Given the description of an element on the screen output the (x, y) to click on. 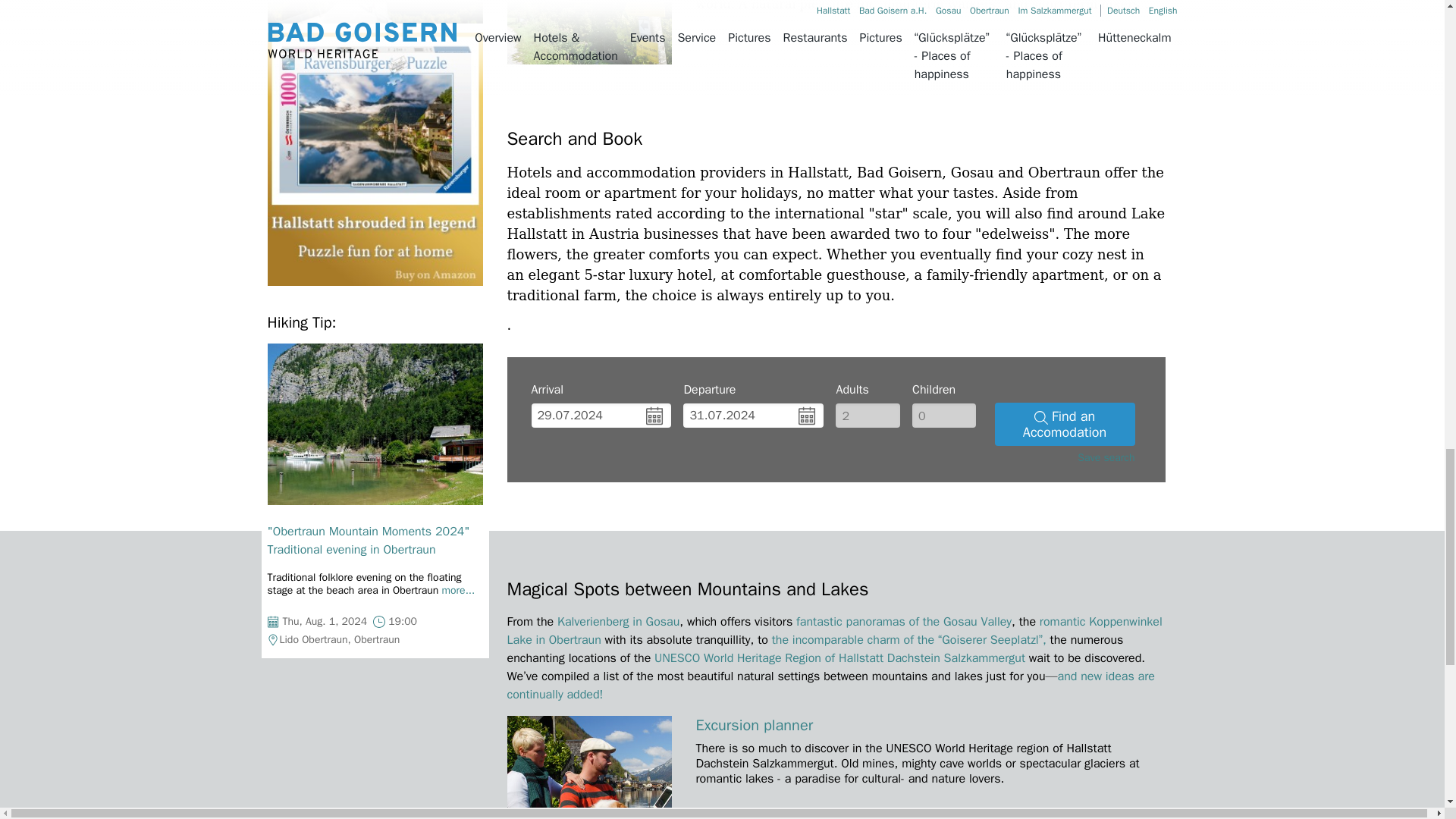
31.07.2024 (753, 415)
29.07.2024 (601, 415)
29.07.2024 (601, 415)
31.07.2024 (753, 415)
